Given the description of an element on the screen output the (x, y) to click on. 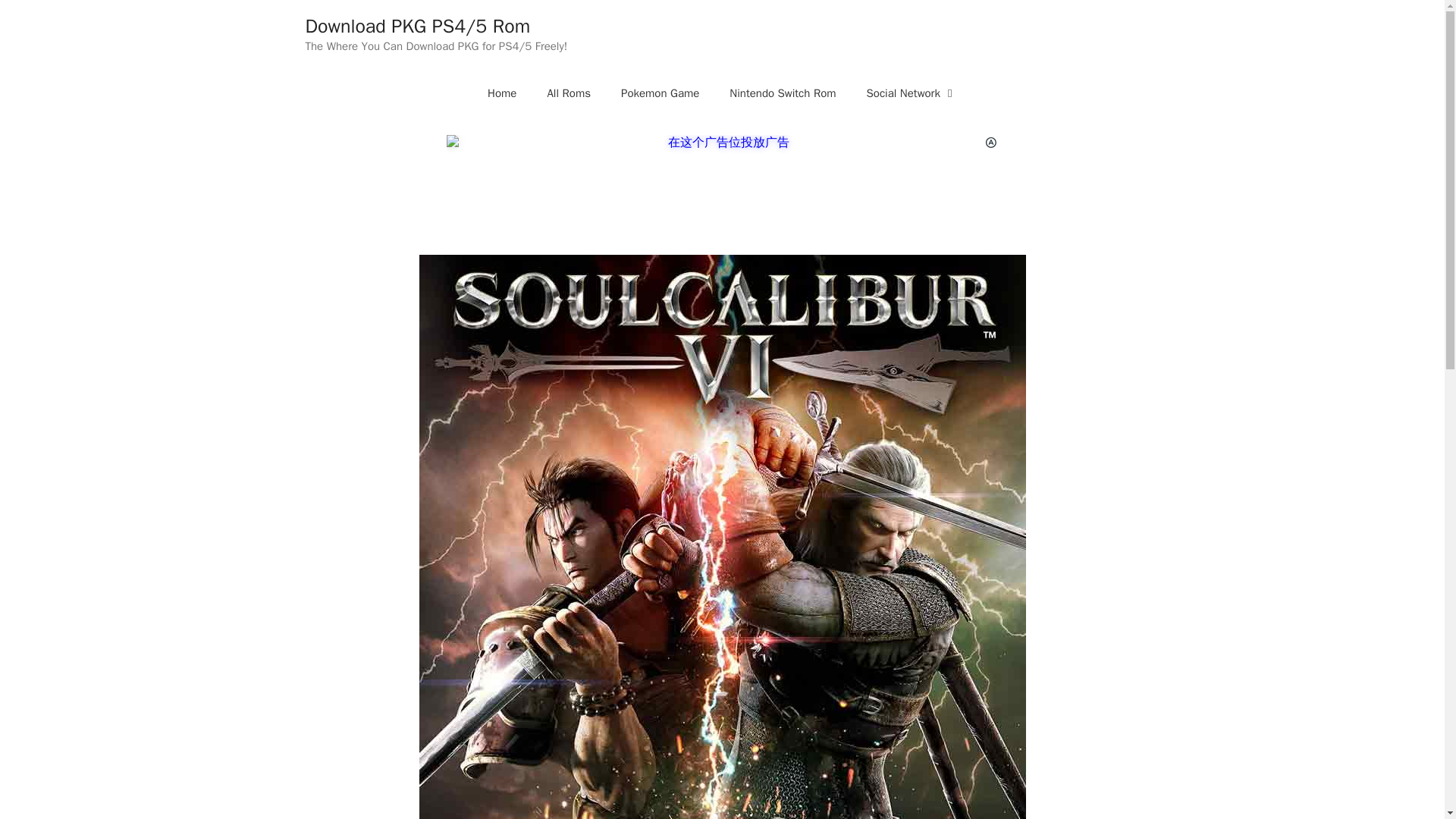
Nintendo Switch Rom (782, 92)
All Roms (568, 92)
Home (501, 92)
Pokemon Game (659, 92)
Social Network (911, 92)
